Given the description of an element on the screen output the (x, y) to click on. 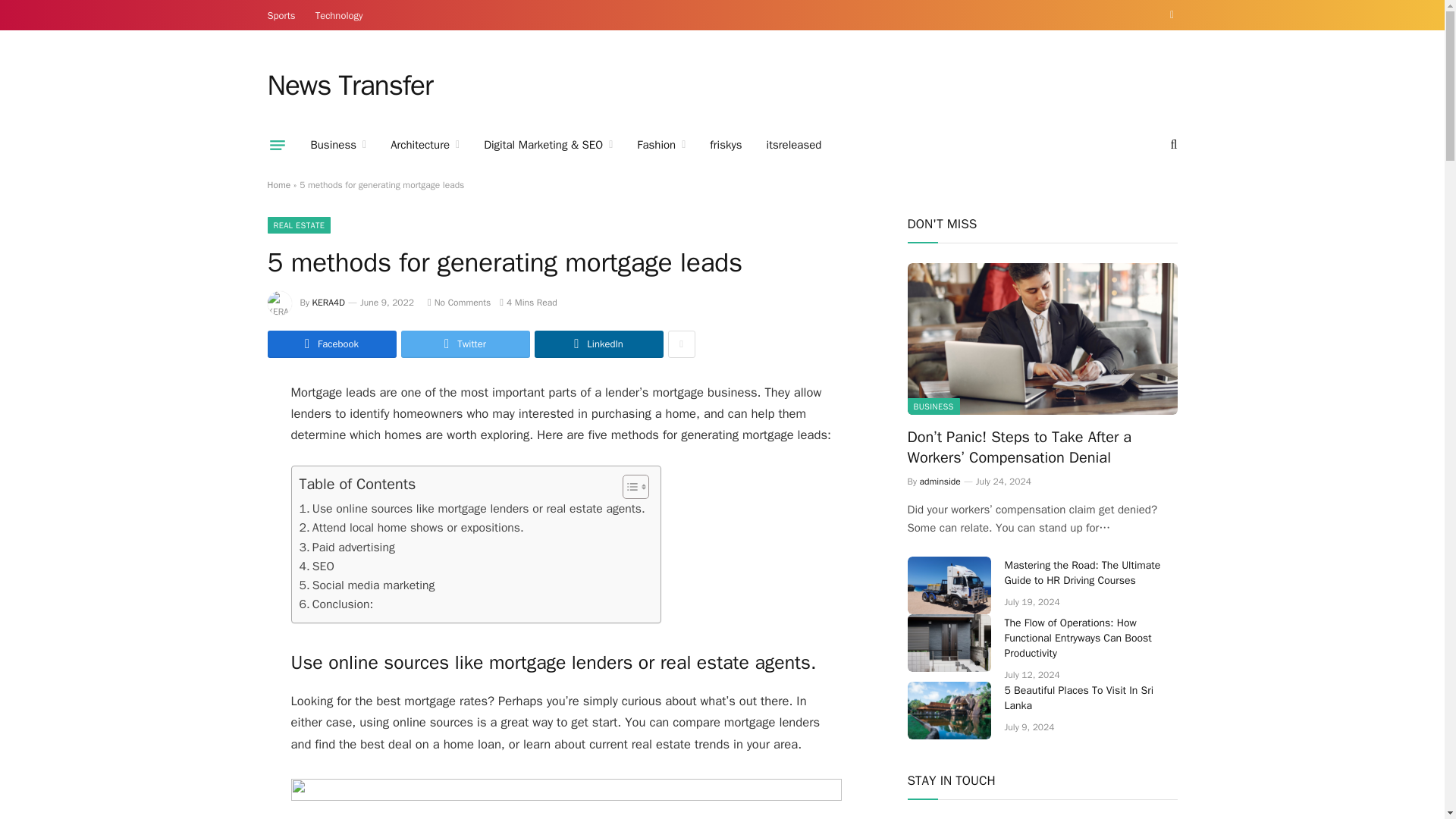
Share on Facebook (331, 343)
Technology (338, 15)
Sports (281, 15)
Share on LinkedIn (598, 343)
Posts by KERA4D (329, 302)
News Transfer (349, 85)
News Transfer (349, 85)
Switch to Dark Design - easier on eyes. (1169, 14)
Business (338, 144)
